Given the description of an element on the screen output the (x, y) to click on. 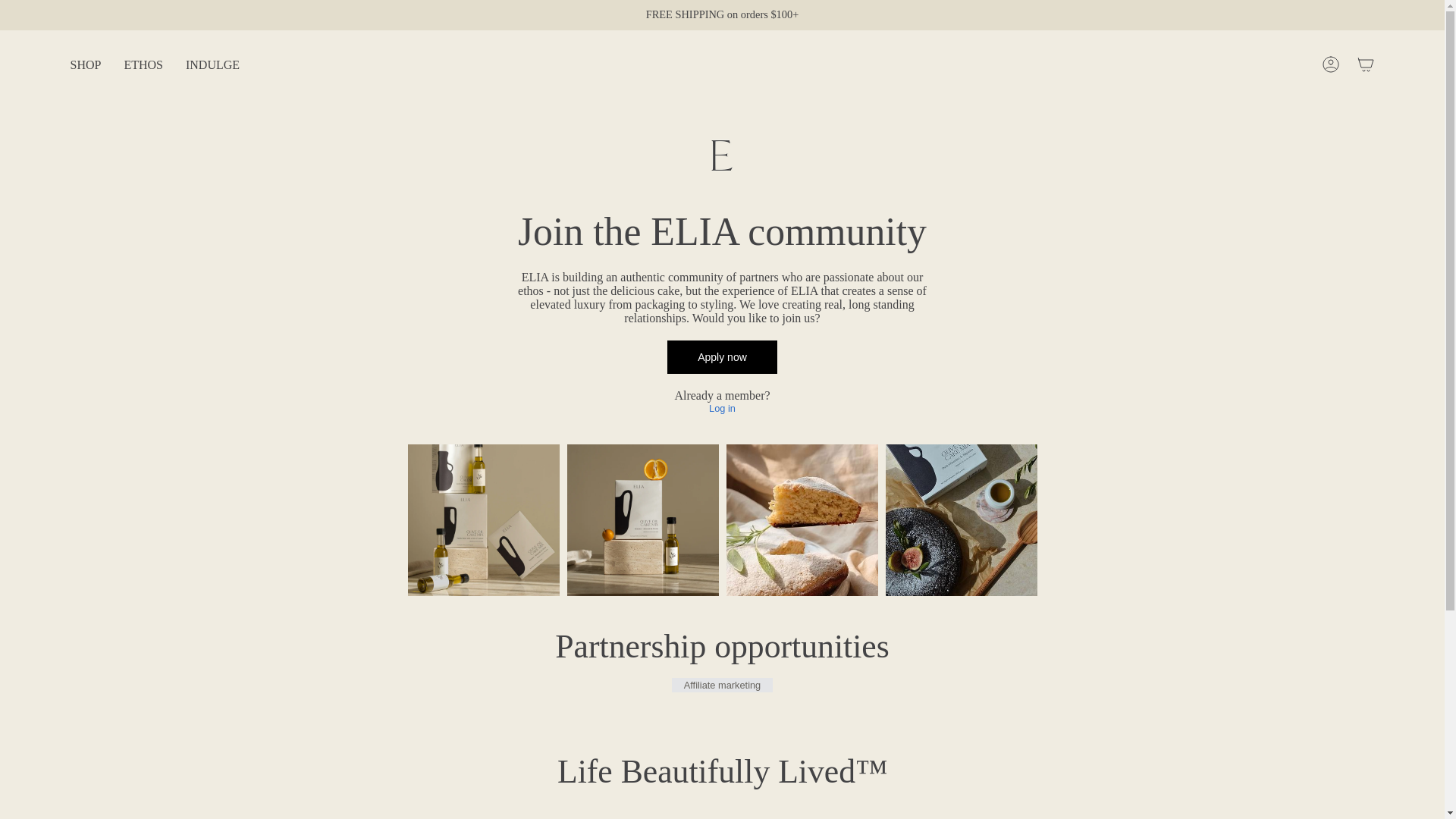
ETHOS (143, 64)
Cart (1365, 63)
SHOP (86, 64)
Cart (1365, 63)
Log in (722, 408)
My Account (1330, 63)
Account (1330, 63)
INDULGE (212, 64)
Apply now (721, 356)
